Given the description of an element on the screen output the (x, y) to click on. 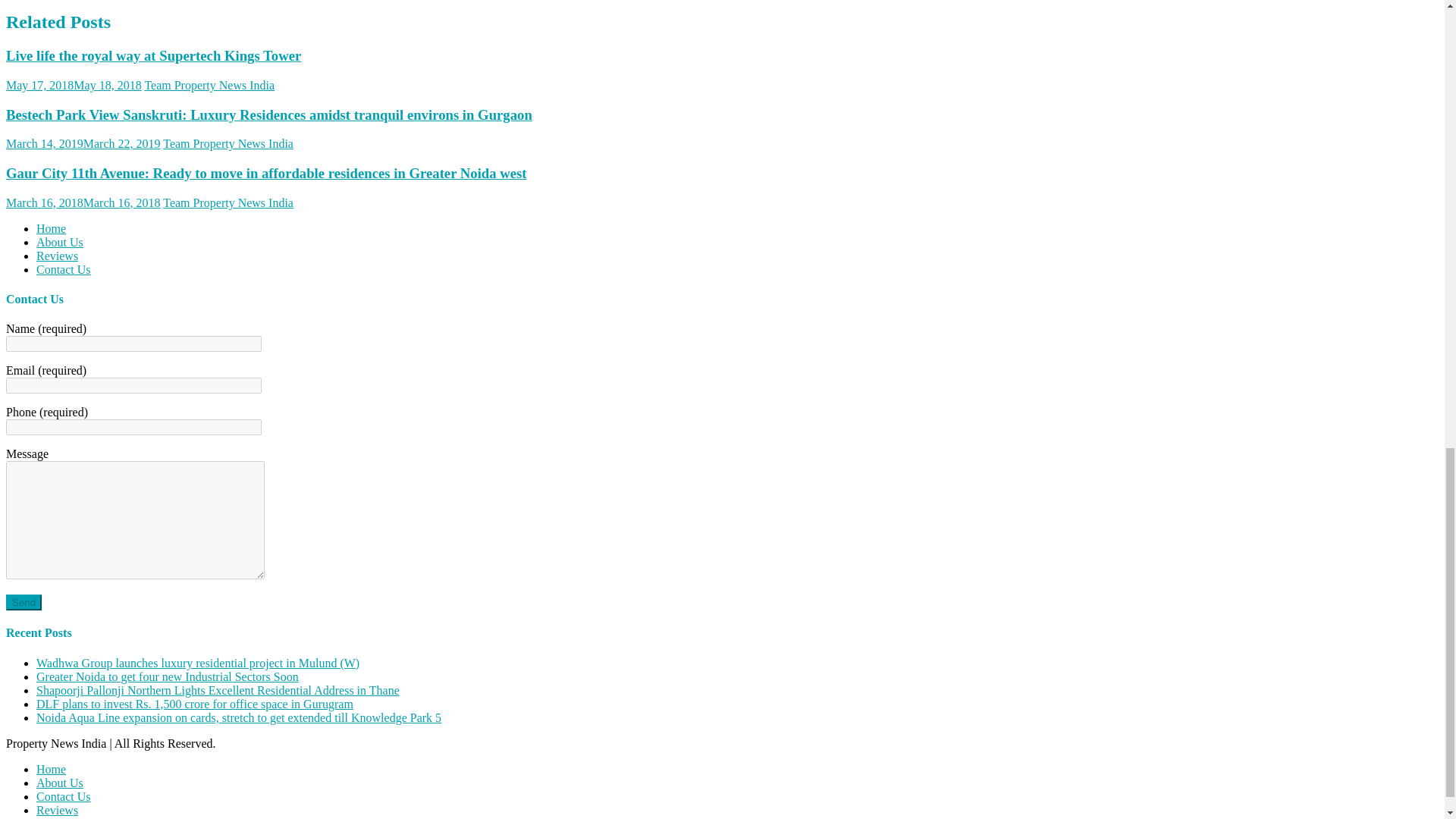
Team Property News India (209, 84)
March 16, 2018March 16, 2018 (82, 202)
March 14, 2019March 22, 2019 (82, 143)
Send (23, 602)
May 17, 2018May 18, 2018 (73, 84)
Live life the royal way at Supertech Kings Tower (153, 55)
Team Property News India (228, 143)
